Given the description of an element on the screen output the (x, y) to click on. 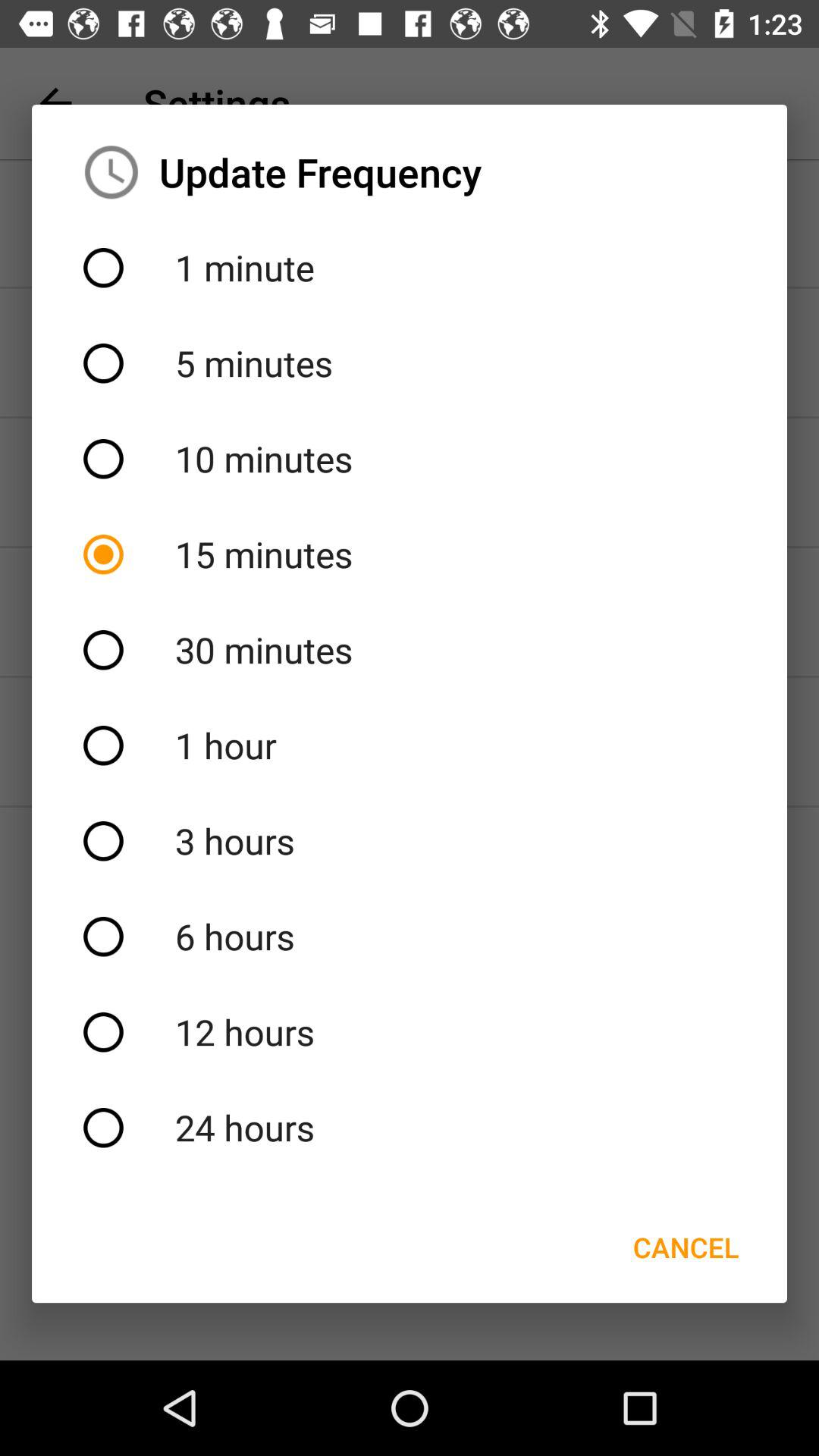
open the icon above 1 hour icon (409, 649)
